Given the description of an element on the screen output the (x, y) to click on. 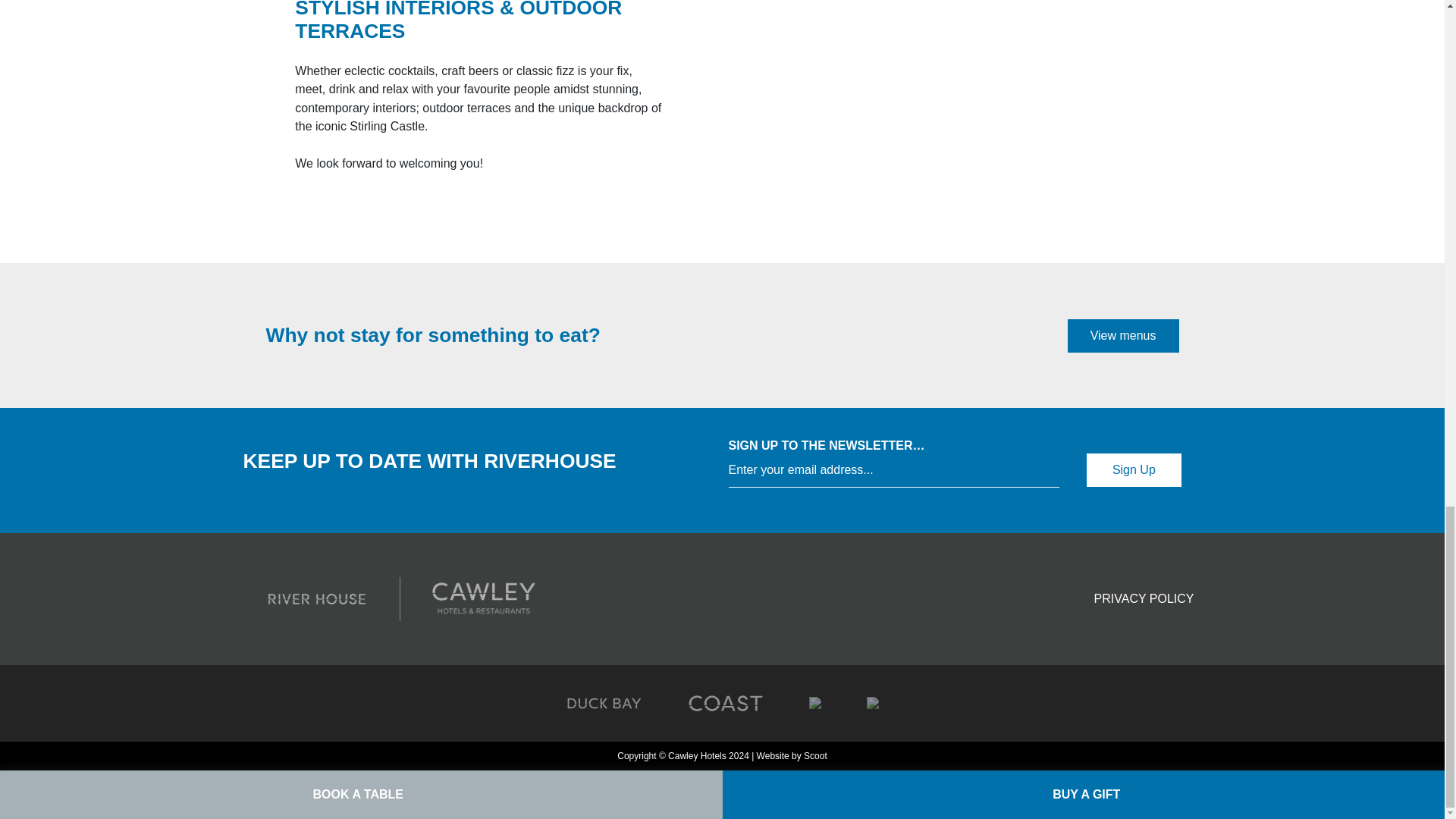
View menus (1123, 335)
PRIVACY POLICY (1145, 598)
Sign Up (1133, 469)
Scoot (815, 756)
Sign Up (1133, 469)
